Given the description of an element on the screen output the (x, y) to click on. 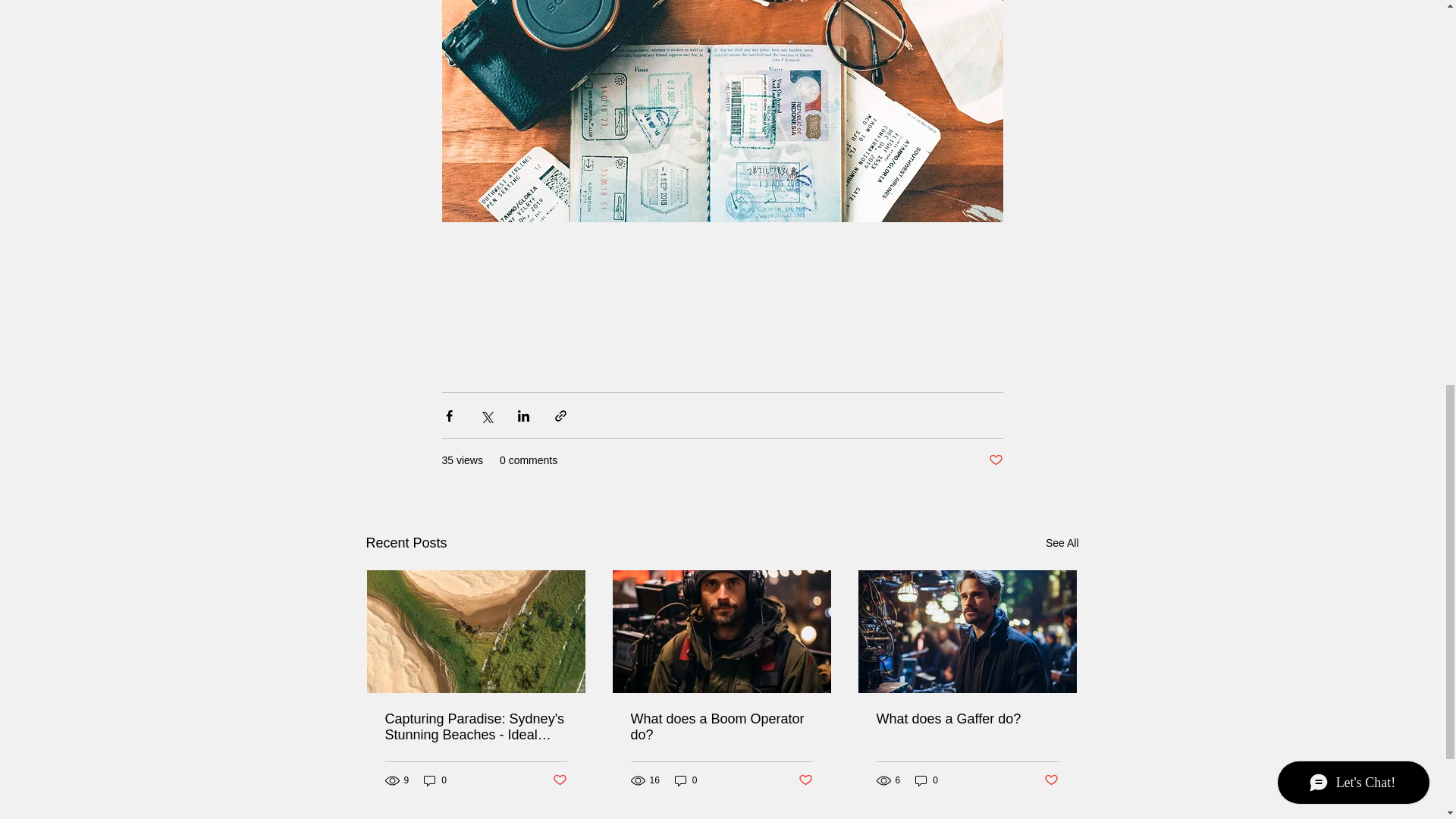
Post not marked as liked (804, 780)
0 (926, 780)
See All (1061, 543)
Post not marked as liked (1050, 780)
0 (685, 780)
0 (435, 780)
Post not marked as liked (995, 460)
What does a Gaffer do? (967, 719)
What does a Boom Operator do? (721, 726)
Post not marked as liked (558, 780)
